Given the description of an element on the screen output the (x, y) to click on. 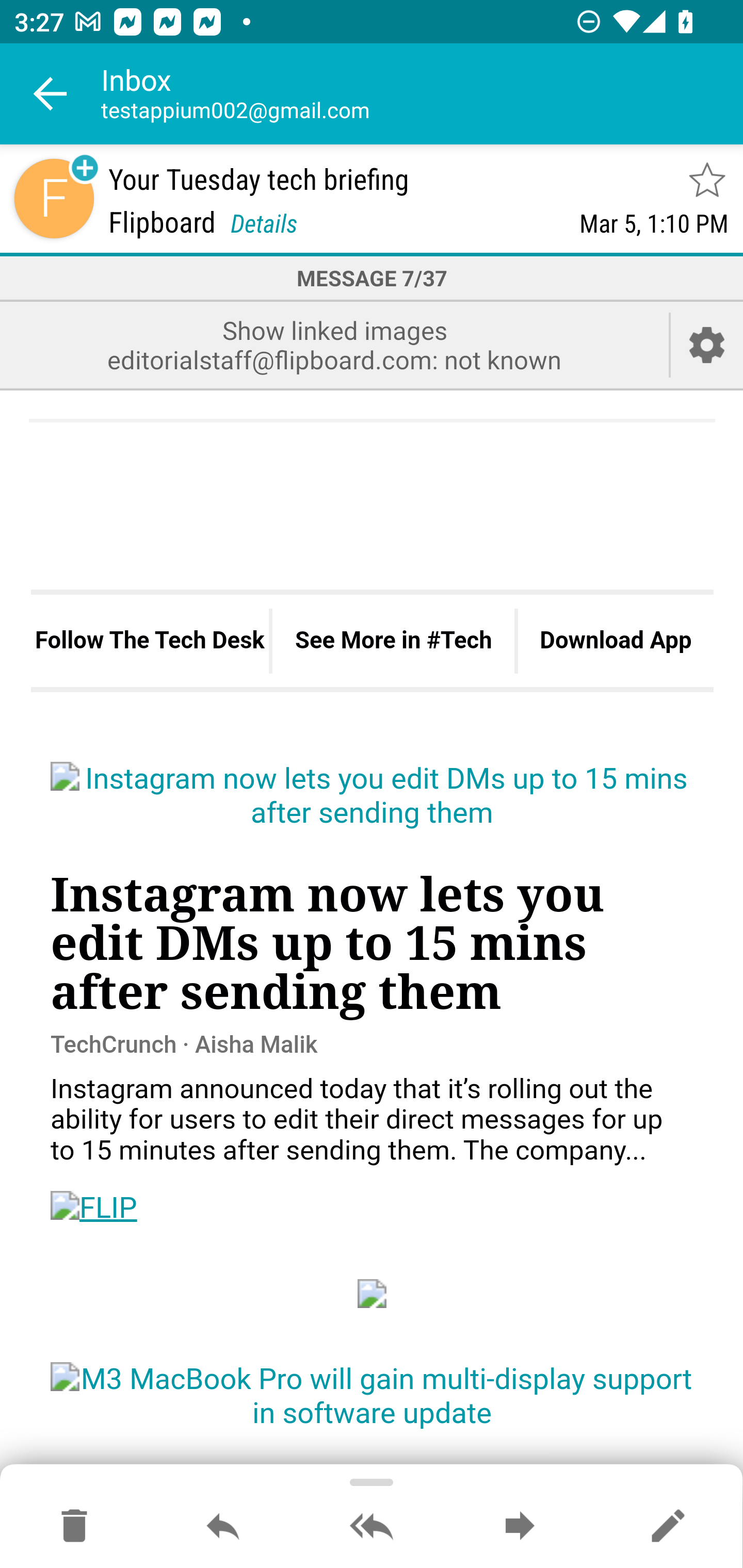
Navigate up (50, 93)
Inbox testappium002@gmail.com (422, 93)
Sender contact button (53, 198)
Account setup (706, 344)
Follow The Tech Desk Follow  The Tech Desk (149, 640)
See More in #Tech (393, 640)
Download App (615, 640)
FLIP (93, 1208)
data: (372, 1293)
Move to Deleted (74, 1527)
Reply (222, 1527)
Reply all (371, 1527)
Forward (519, 1527)
Reply as new (667, 1527)
